Given the description of an element on the screen output the (x, y) to click on. 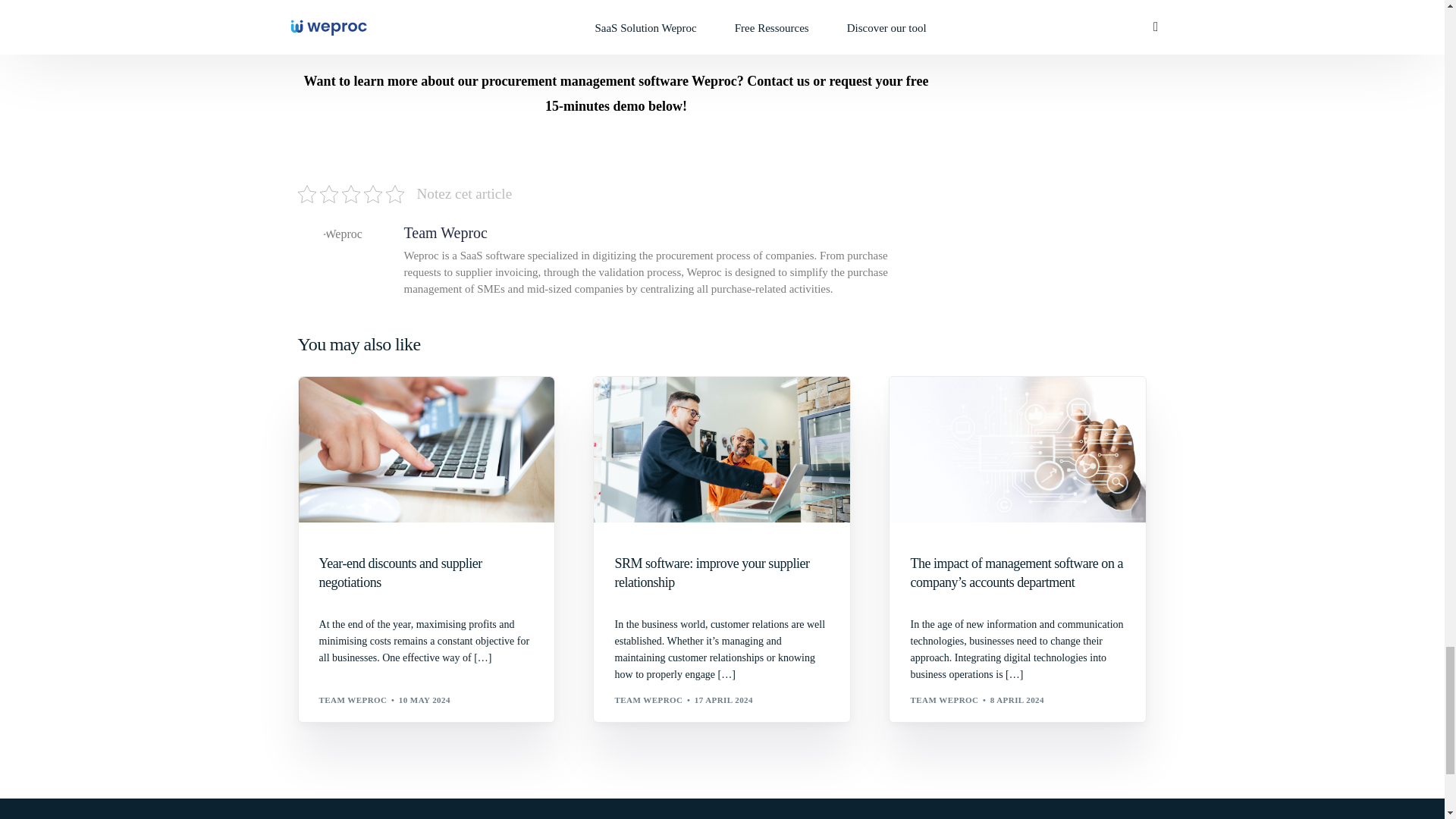
Year-end discounts and supplier negotiations (426, 573)
Posts by Team Weproc (944, 699)
TEAM WEPROC (352, 699)
Team Weproc (444, 232)
 View Post: SRM software: improve your supplier relationship (722, 449)
View Post: SRM software: improve your supplier relationship  (721, 573)
Posts by Team Weproc (648, 699)
 View Post: Year-end discounts and supplier negotiations (426, 449)
View Post: Year-end discounts and supplier negotiations  (426, 573)
Posts by Team Weproc (352, 699)
